Given the description of an element on the screen output the (x, y) to click on. 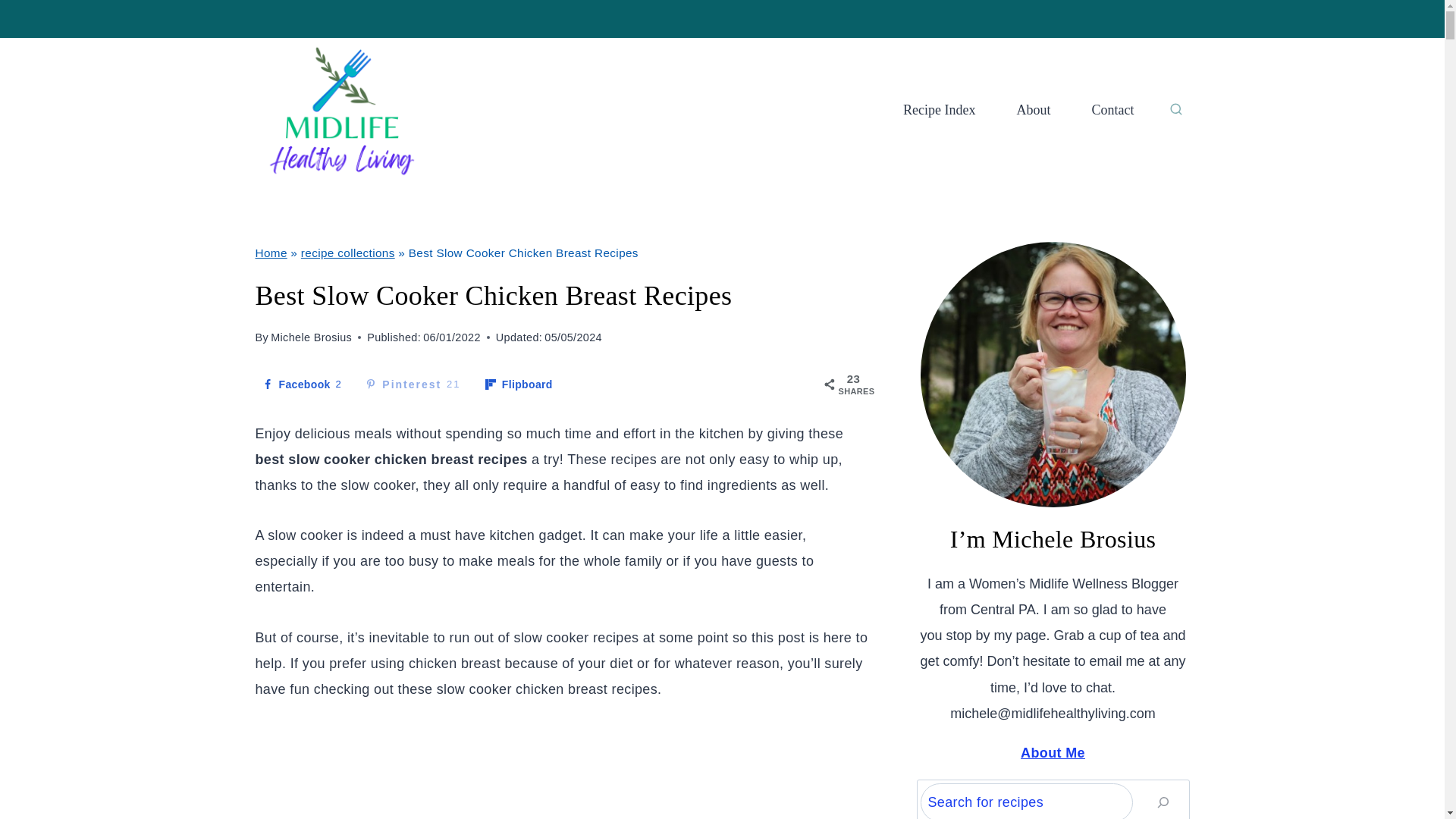
Share on Flipboard (519, 384)
Michele Brosius (311, 337)
About (1033, 109)
Flipboard (519, 384)
Share on Facebook (300, 384)
Home (300, 384)
recipe collections (270, 252)
Save to Pinterest (347, 252)
